Given the description of an element on the screen output the (x, y) to click on. 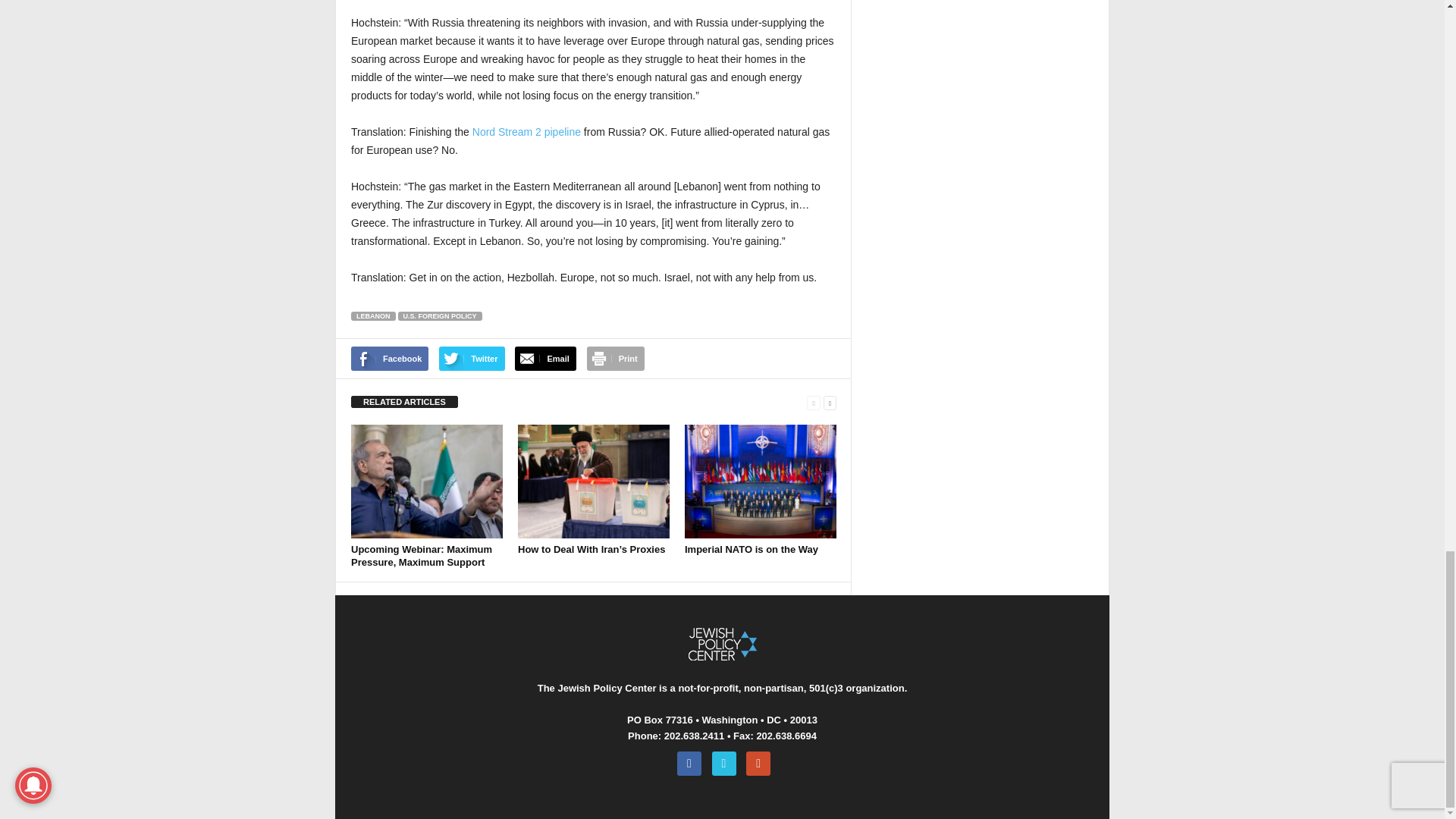
Upcoming Webinar: Maximum Pressure, Maximum Support (421, 555)
Upcoming Webinar: Maximum Pressure, Maximum Support (426, 481)
